Given the description of an element on the screen output the (x, y) to click on. 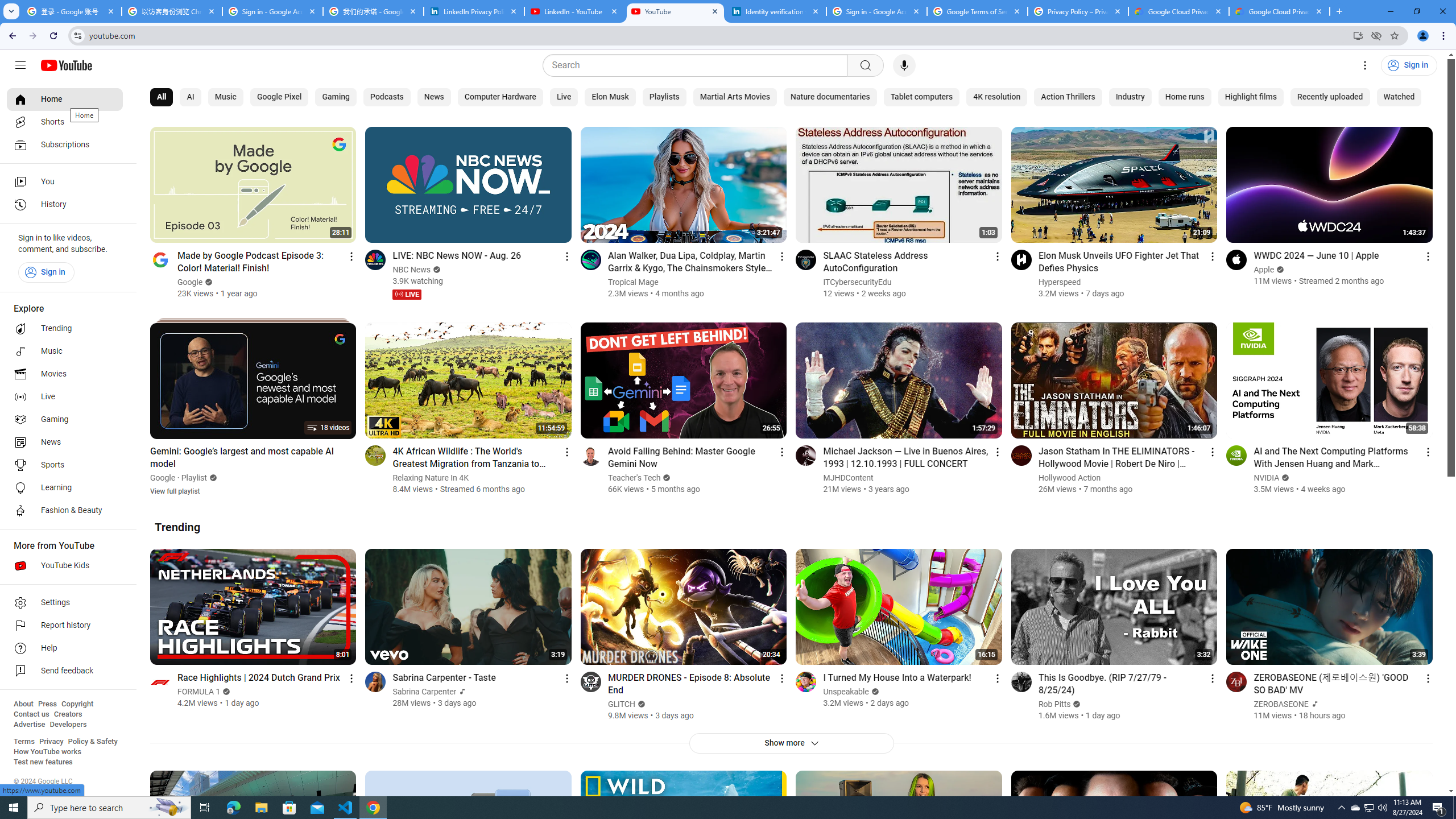
ZEROBASEONE (1281, 704)
Action menu (1427, 677)
Search (865, 65)
Advertise (29, 724)
Fashion & Beauty (64, 510)
Policy & Safety (91, 741)
Official Artist Channel (1313, 704)
Rob Pitts (1054, 704)
Tropical Mage (633, 282)
Google Cloud Privacy Notice (1279, 11)
Guide (20, 65)
Relaxing Nature In 4K (431, 477)
Gaming (335, 97)
